Given the description of an element on the screen output the (x, y) to click on. 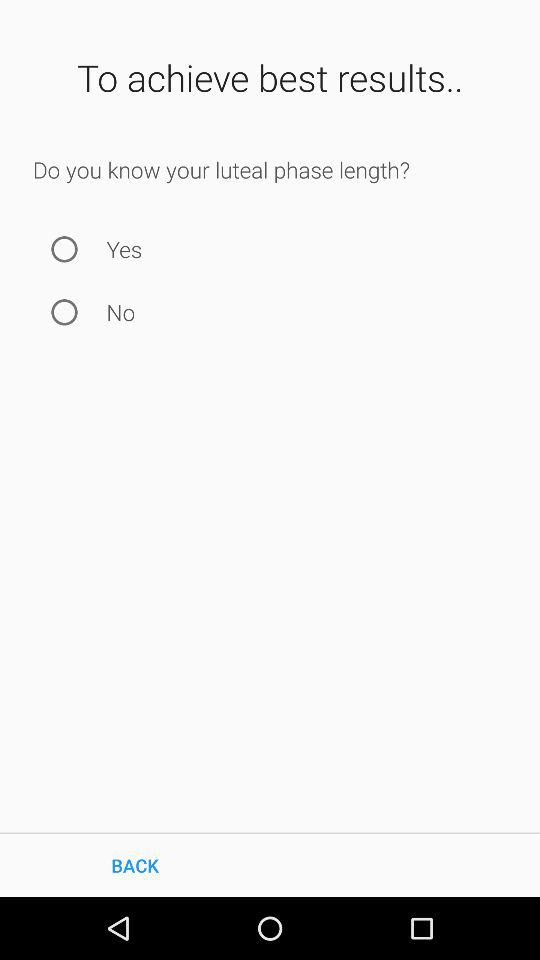
select yes (64, 248)
